Given the description of an element on the screen output the (x, y) to click on. 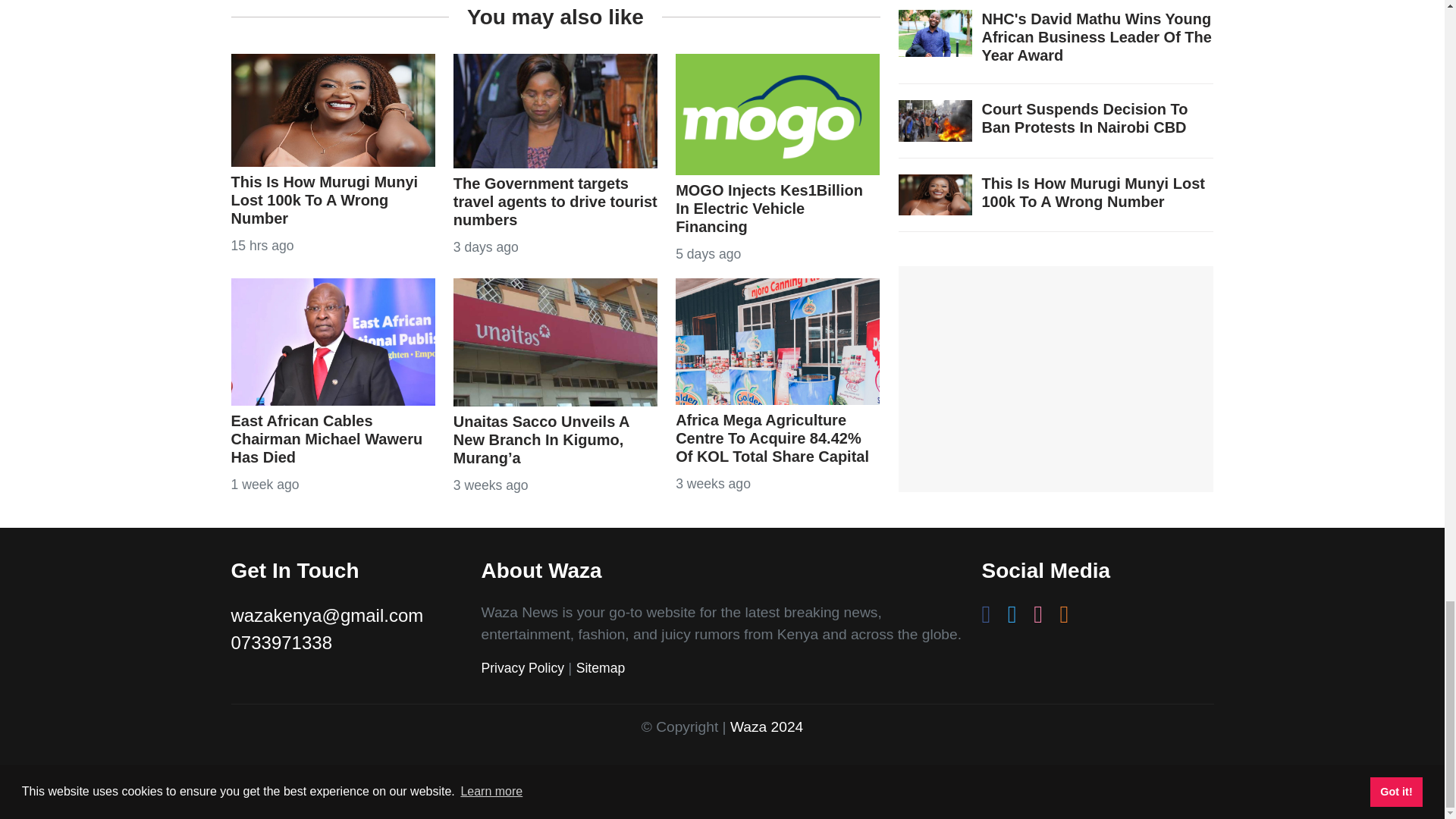
MOGO Injects Kes1Billion In Electric Vehicle Financing (777, 113)
This Is How Murugi Munyi Lost 100k To A Wrong Number (331, 108)
East African Cables Chairman Michael  Waweru Has Died (331, 340)
